Given the description of an element on the screen output the (x, y) to click on. 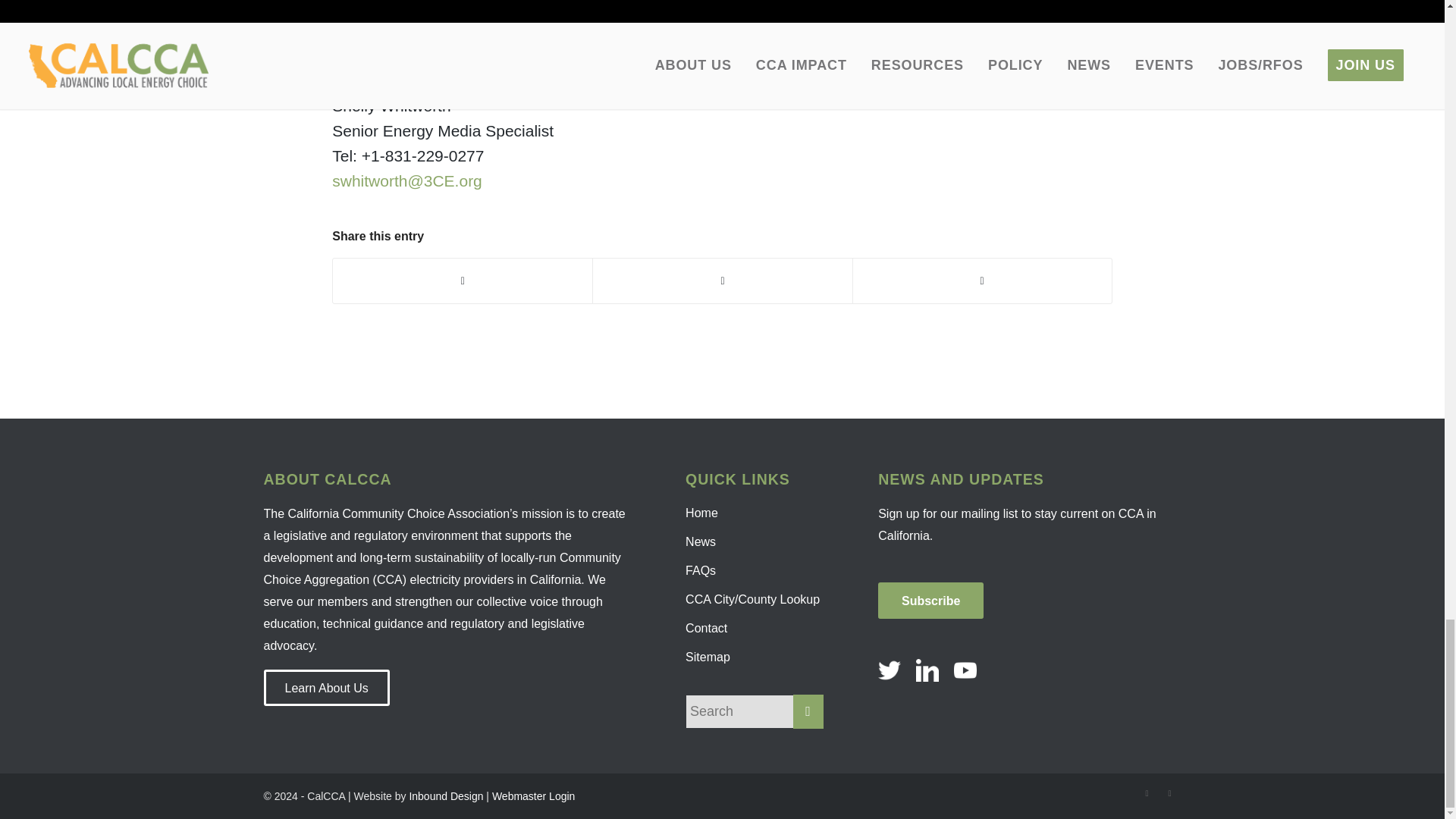
LinkedIn (1169, 793)
3CEnergy.org (398, 41)
Learn About Us (326, 687)
Contact (754, 628)
Twitter (1146, 793)
News (754, 541)
Home (754, 512)
FAQs (754, 570)
Sitemap (754, 656)
